Given the description of an element on the screen output the (x, y) to click on. 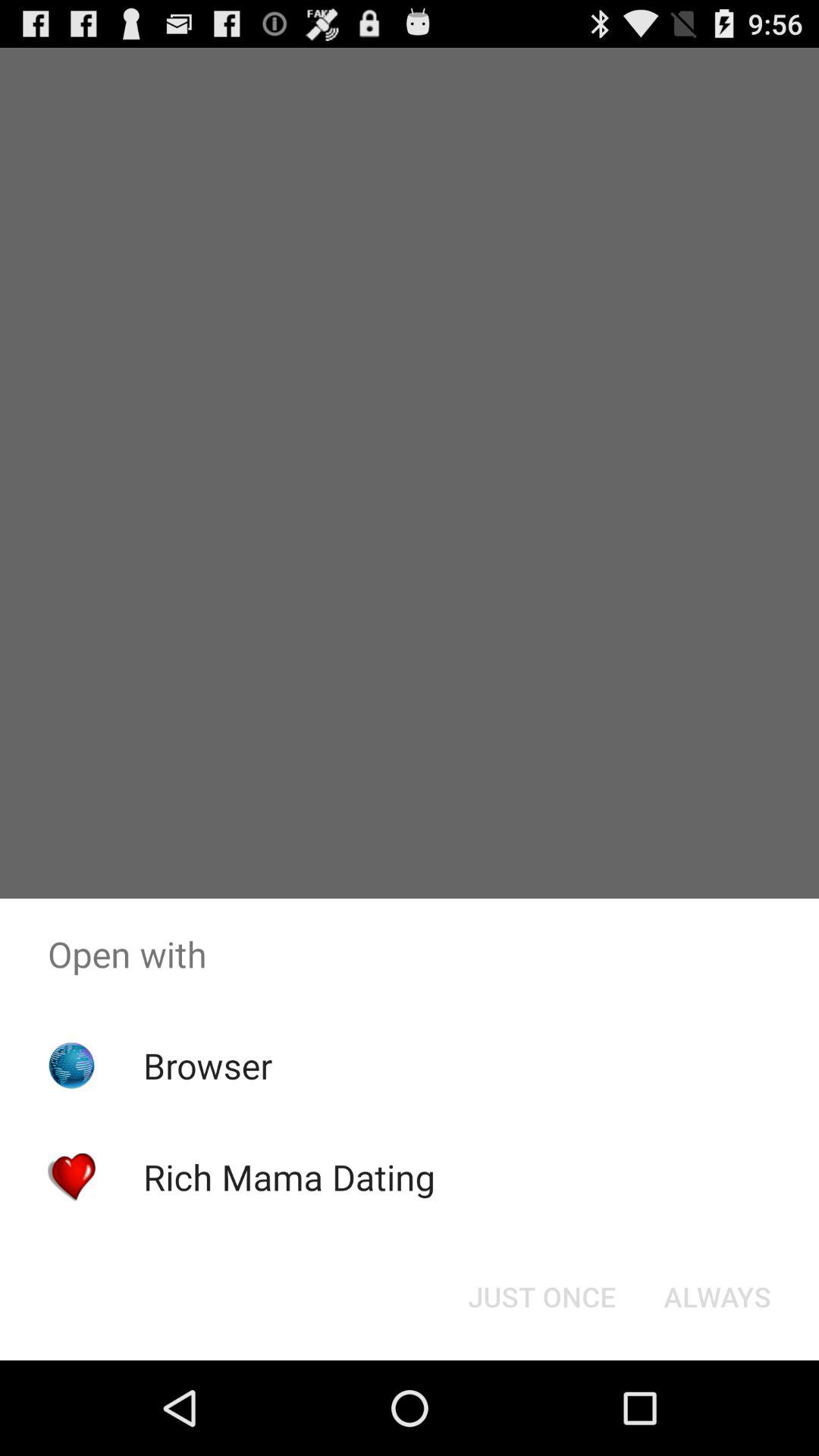
tap the browser item (207, 1065)
